Given the description of an element on the screen output the (x, y) to click on. 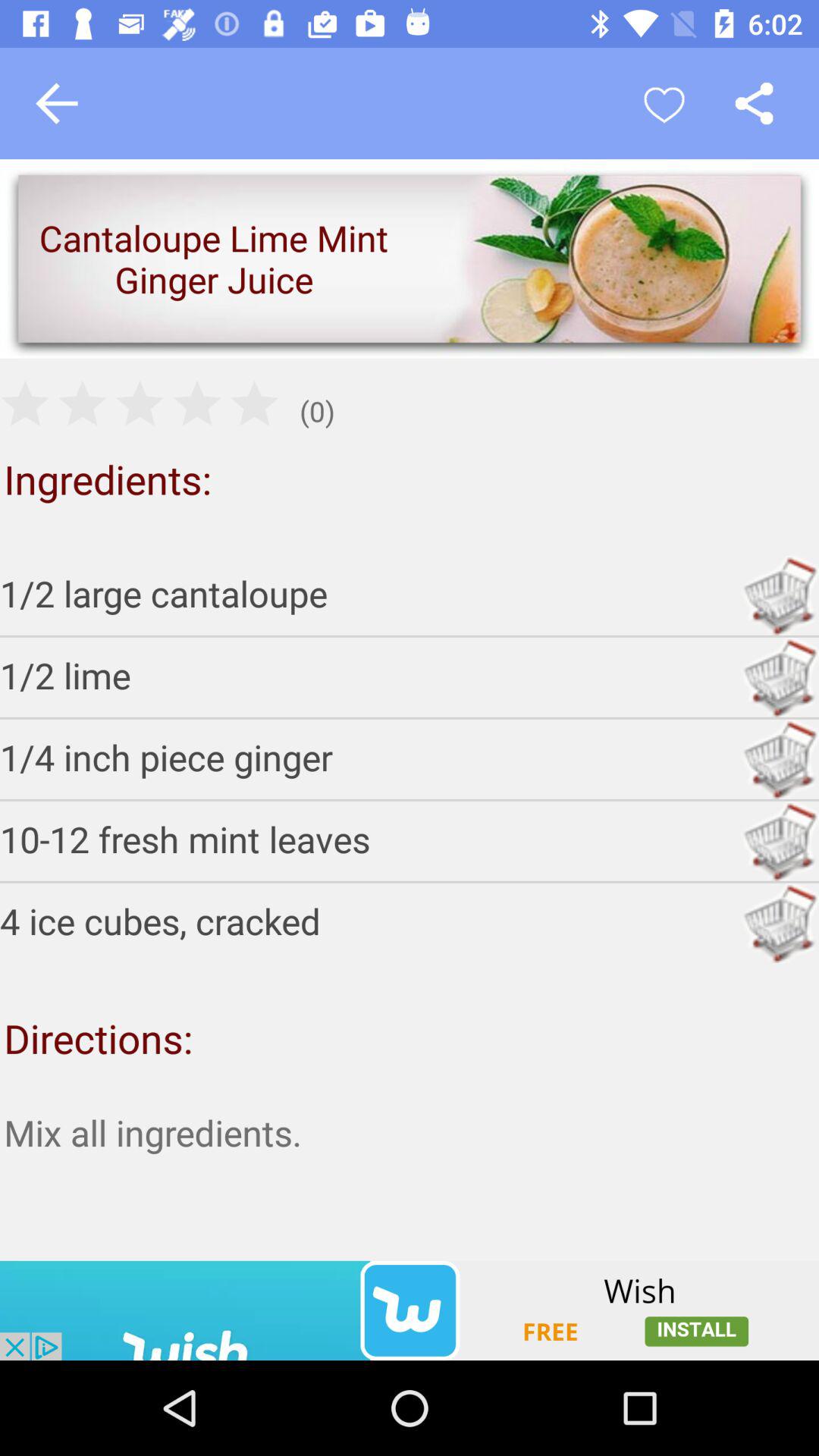
share it (754, 103)
